Given the description of an element on the screen output the (x, y) to click on. 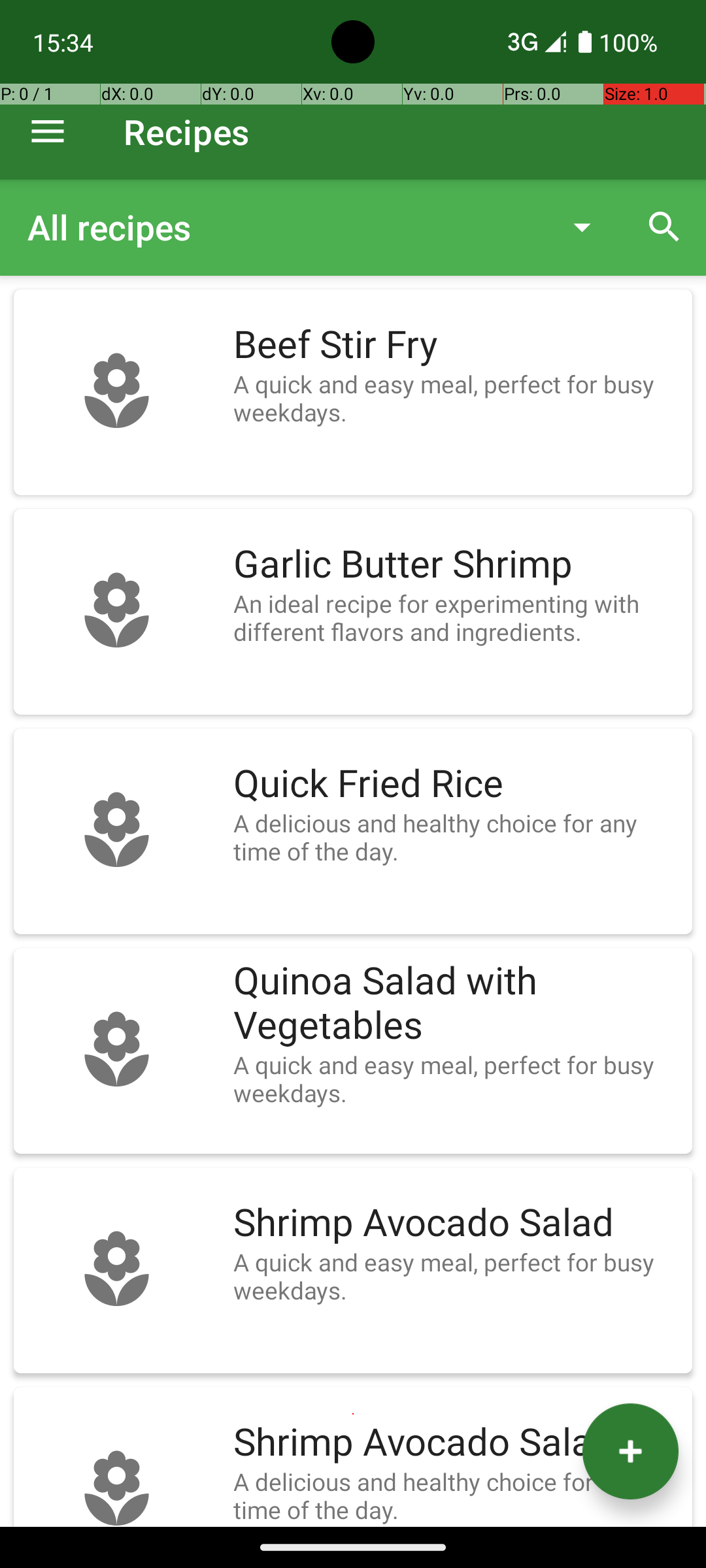
New Recipe Element type: android.widget.ImageButton (630, 1451)
All recipes Element type: android.widget.TextView (283, 226)
Recipe photo Element type: android.widget.ImageView (116, 392)
Beef Stir Fry Element type: android.widget.TextView (455, 344)
A quick and easy meal, perfect for busy weekdays. Element type: android.widget.TextView (455, 397)
Garlic Butter Shrimp Element type: android.widget.TextView (455, 564)
An ideal recipe for experimenting with different flavors and ingredients. Element type: android.widget.TextView (455, 617)
Quick Fried Rice Element type: android.widget.TextView (455, 783)
A delicious and healthy choice for any time of the day. Element type: android.widget.TextView (455, 836)
Quinoa Salad with Vegetables Element type: android.widget.TextView (455, 1003)
Shrimp Avocado Salad Element type: android.widget.TextView (455, 1222)
